Given the description of an element on the screen output the (x, y) to click on. 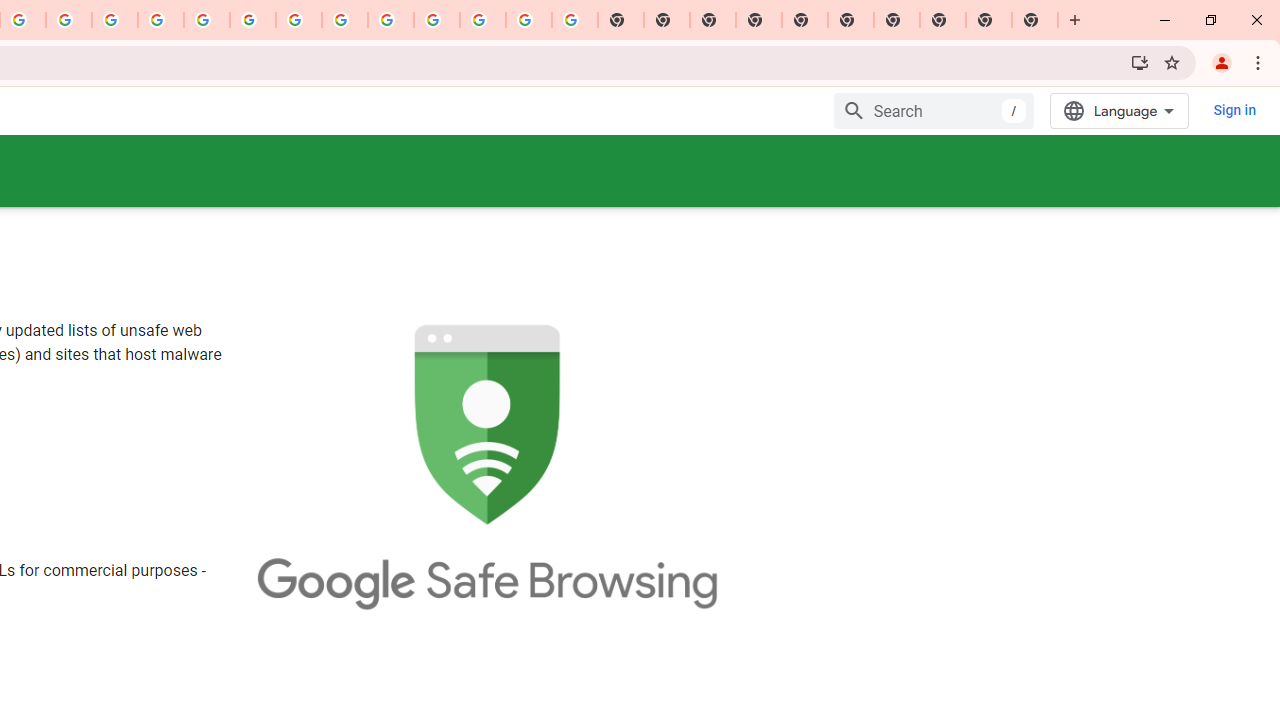
Google Images (574, 20)
New Tab (759, 20)
Privacy Help Center - Policies Help (115, 20)
Privacy Help Center - Policies Help (161, 20)
Search (933, 110)
New Tab (1035, 20)
Language (1119, 110)
